Given the description of an element on the screen output the (x, y) to click on. 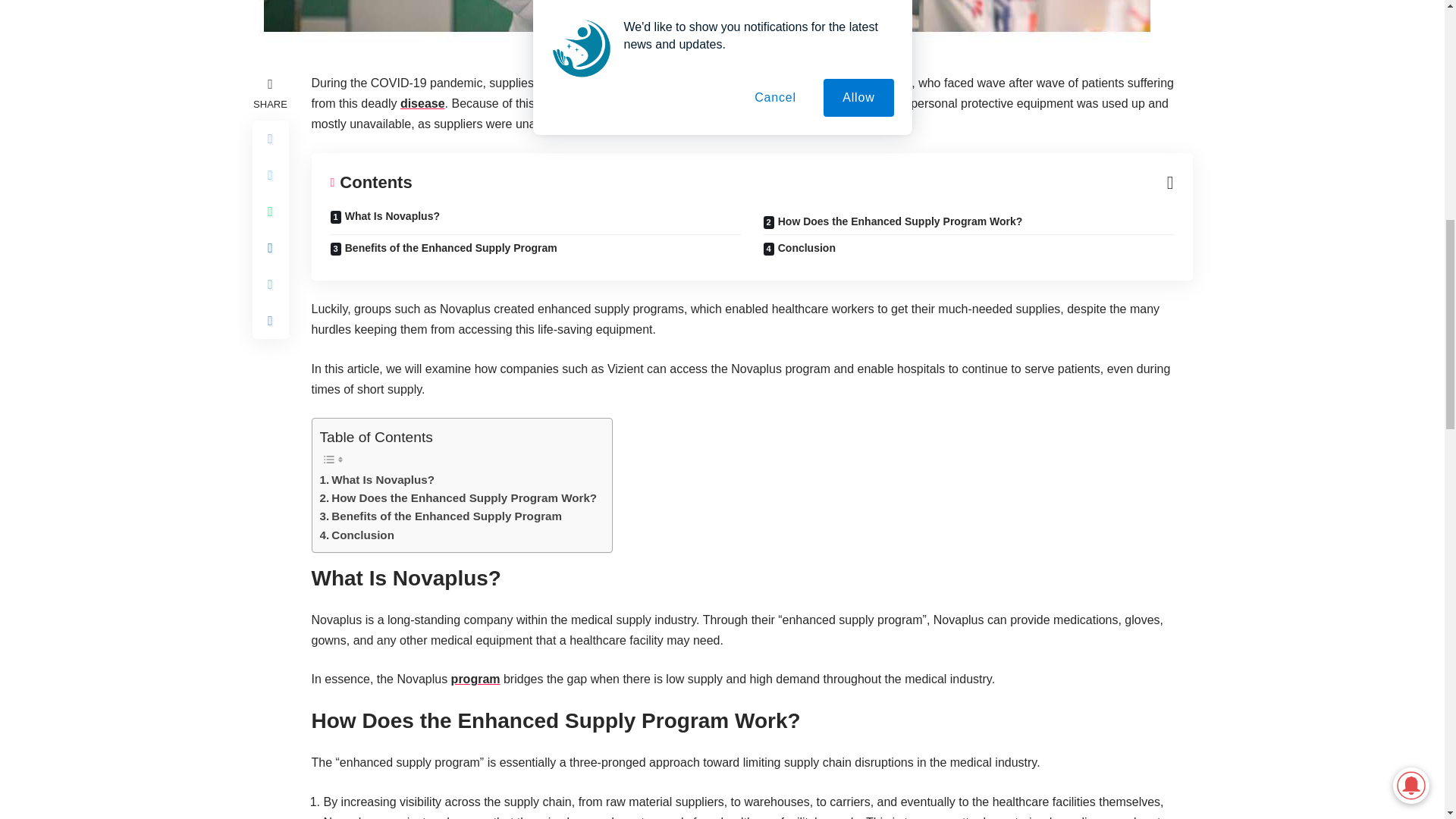
How Does the Enhanced Supply Program Work? (458, 497)
Conclusion (357, 535)
Benefits of the Enhanced Supply Program (441, 515)
